Given the description of an element on the screen output the (x, y) to click on. 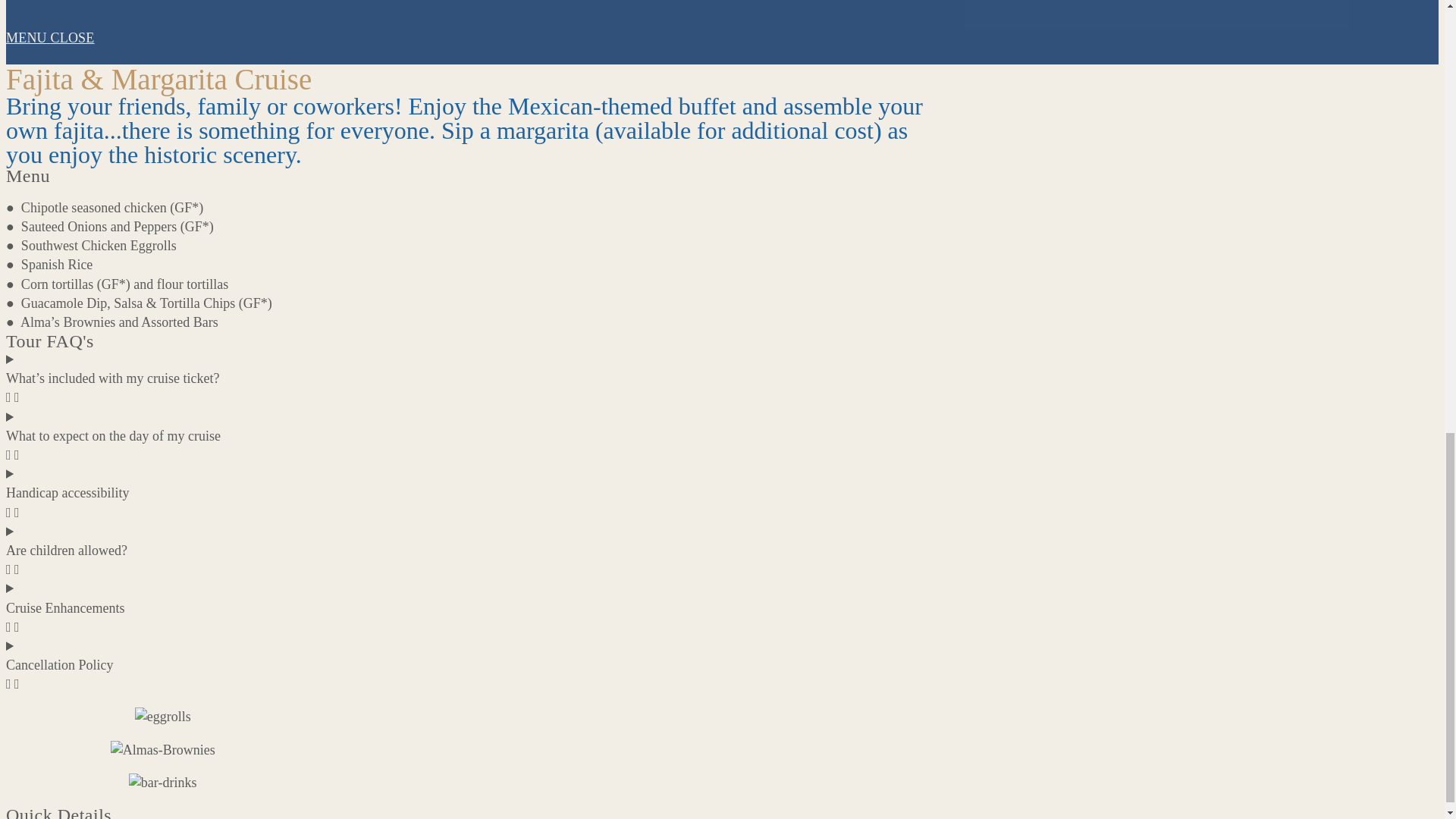
MENU CLOSE (475, 47)
